Given the description of an element on the screen output the (x, y) to click on. 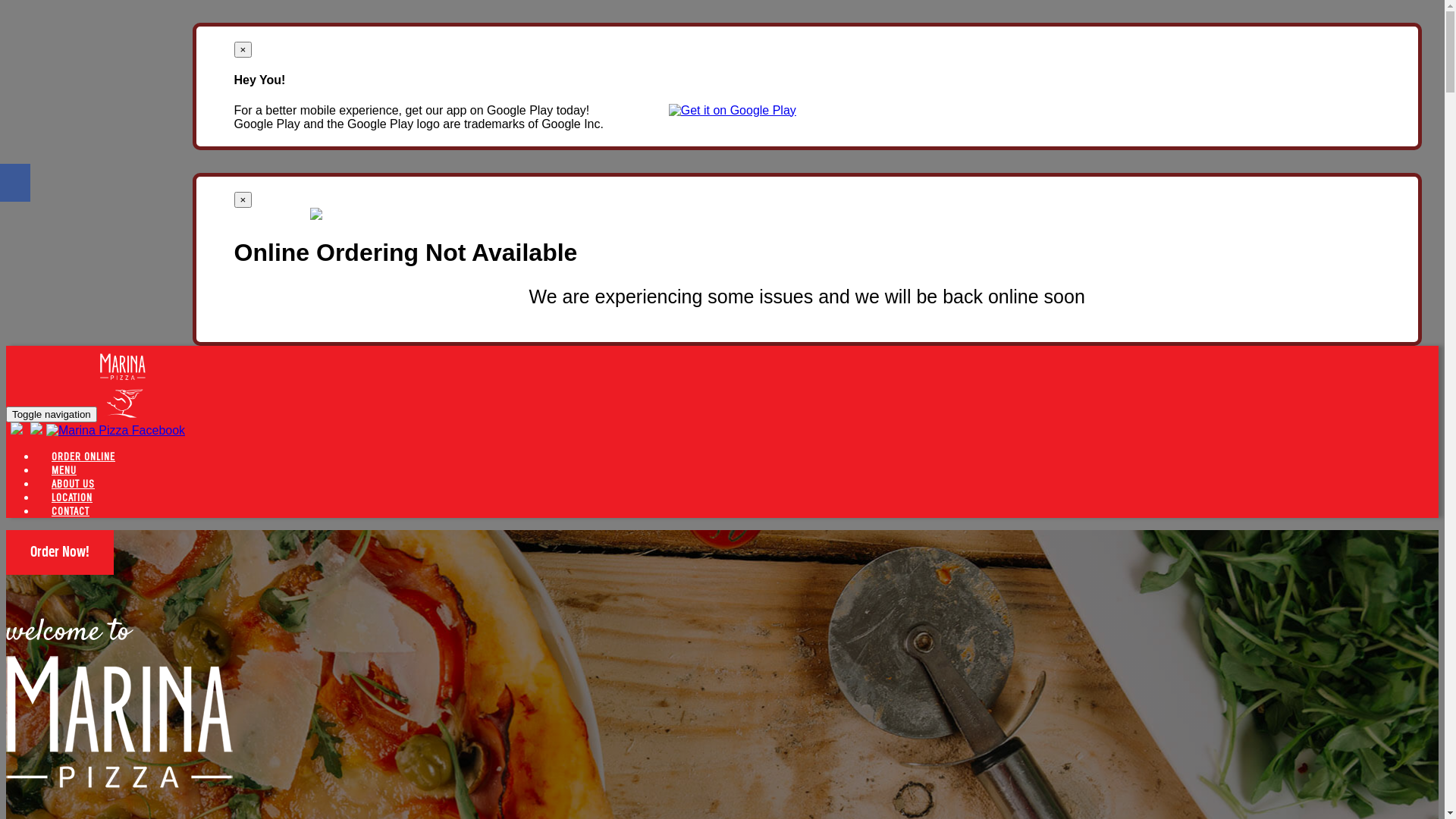
CONTACT Element type: text (70, 511)
ORDER ONLINE Element type: text (83, 456)
MENU Element type: text (63, 470)
Welcome to Marina Pizza Mildura Element type: hover (119, 721)
Order Now! Element type: text (59, 552)
ABOUT US Element type: text (72, 483)
Share on Facebook Element type: hover (15, 182)
Order Now! Element type: text (59, 552)
Toggle navigation Element type: text (51, 414)
LOCATION Element type: text (71, 497)
